Given the description of an element on the screen output the (x, y) to click on. 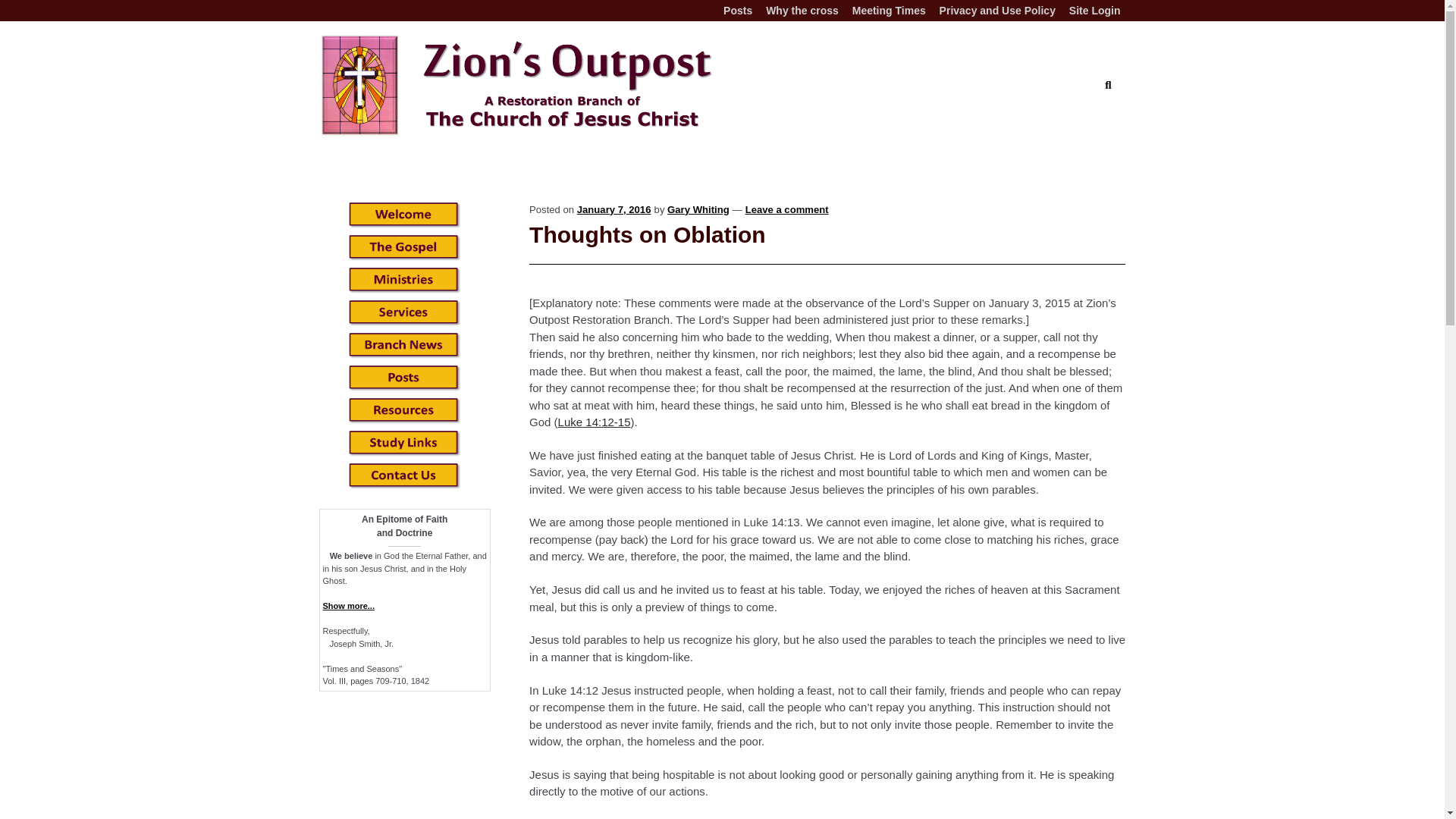
Meeting Times (889, 10)
Site Login (1094, 10)
Why the cross (802, 10)
Site Login (1094, 10)
Privacy and Use Policy (997, 10)
Posts (737, 10)
